Given the description of an element on the screen output the (x, y) to click on. 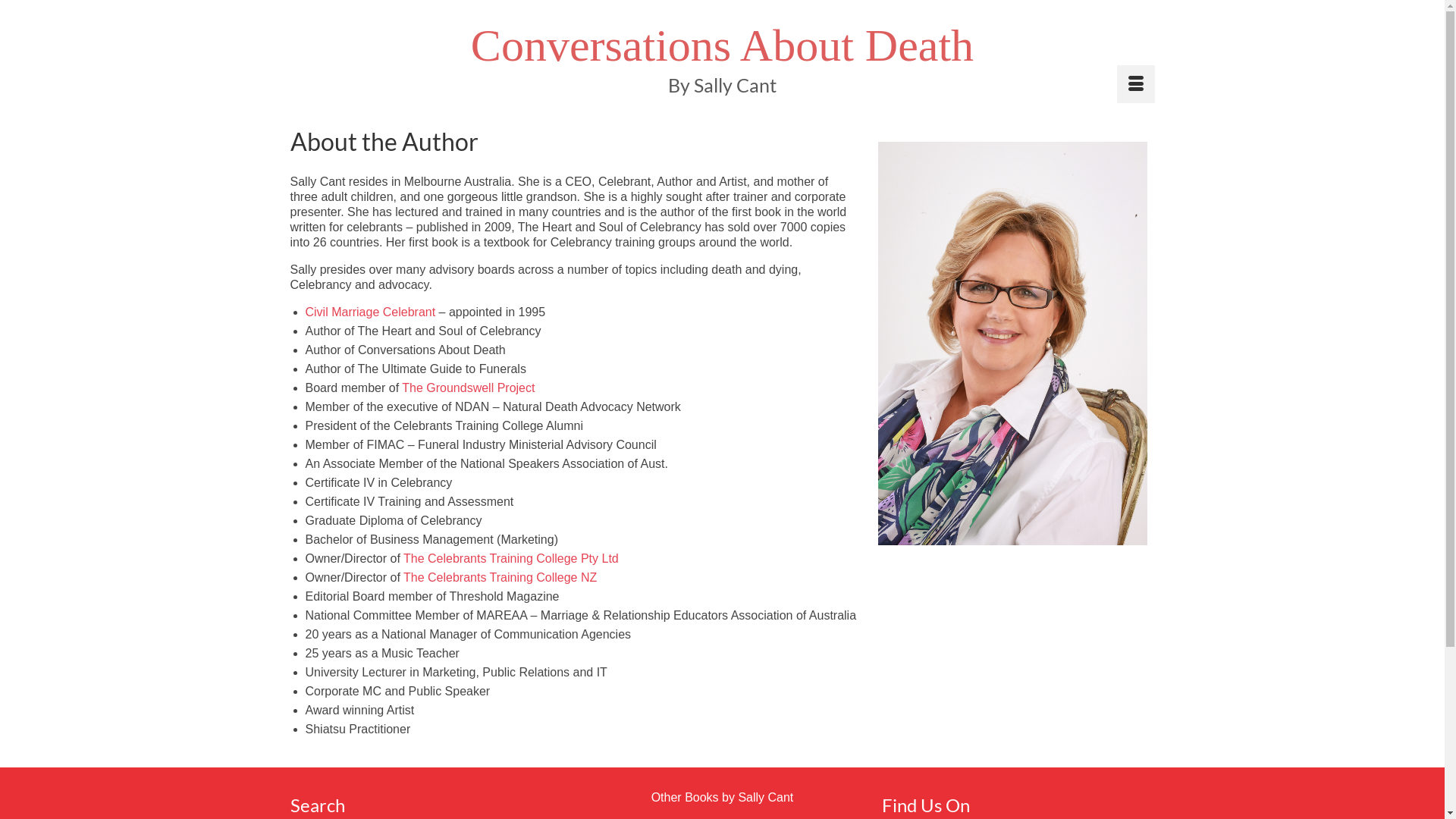
Civil Marriage Celebrant Element type: text (369, 311)
The Celebrants Training College Pty Ltd Element type: text (510, 558)
The Groundswell Project  Element type: text (469, 387)
Conversations About Death Element type: text (721, 45)
Menu Element type: hover (1135, 84)
The Celebrants Training College NZ Element type: text (499, 577)
